Given the description of an element on the screen output the (x, y) to click on. 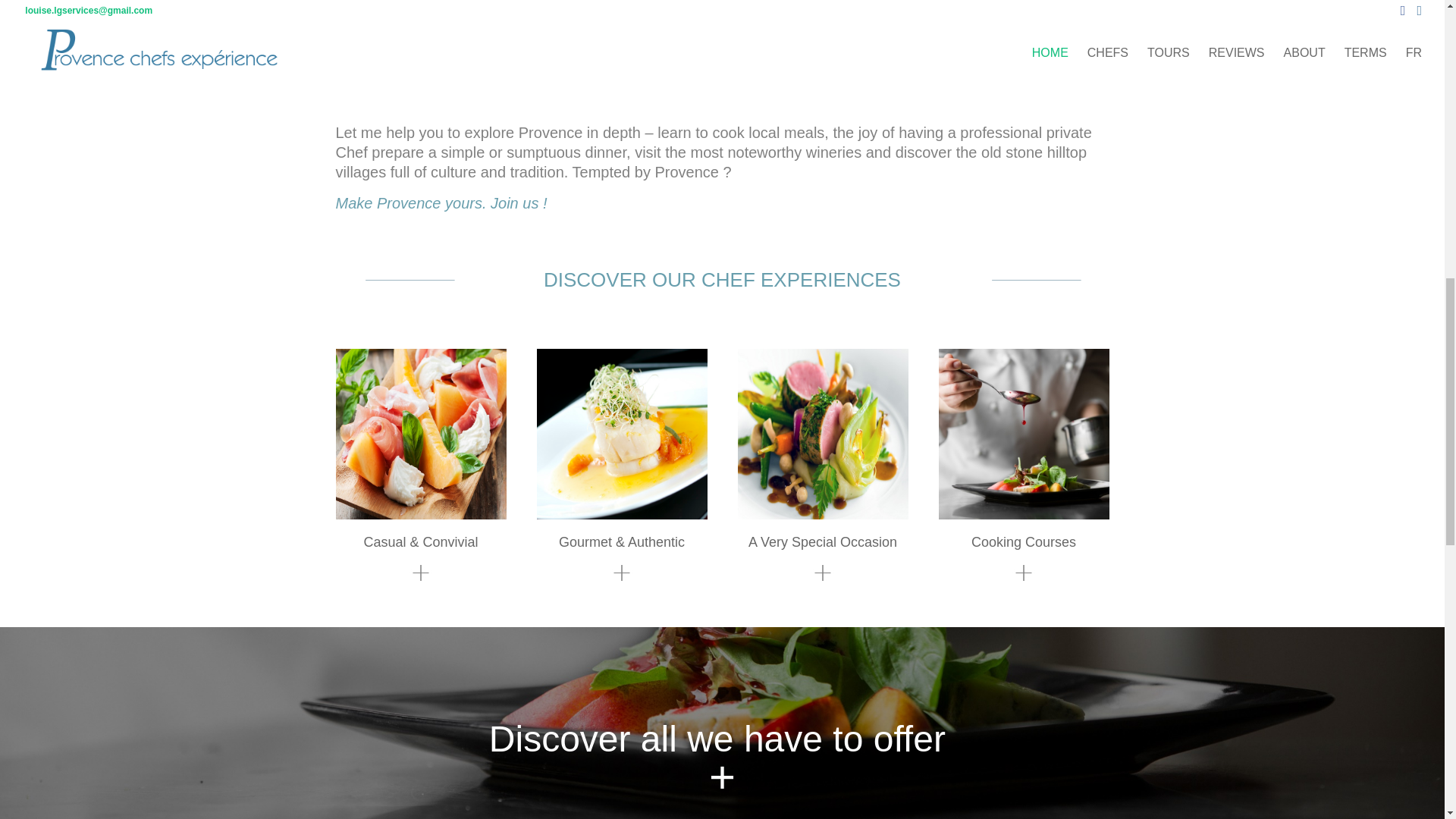
ligne (1035, 280)
Delicious gourmet food (821, 433)
ligne (351, 41)
Cours de cuisine 600x600 (1024, 433)
ligne (407, 280)
ligne (1092, 41)
Discover all we have to offer  (722, 739)
Gourmet Scallops (622, 433)
Antipasto with melon, mozzarella, ham and basil (419, 433)
